Given the description of an element on the screen output the (x, y) to click on. 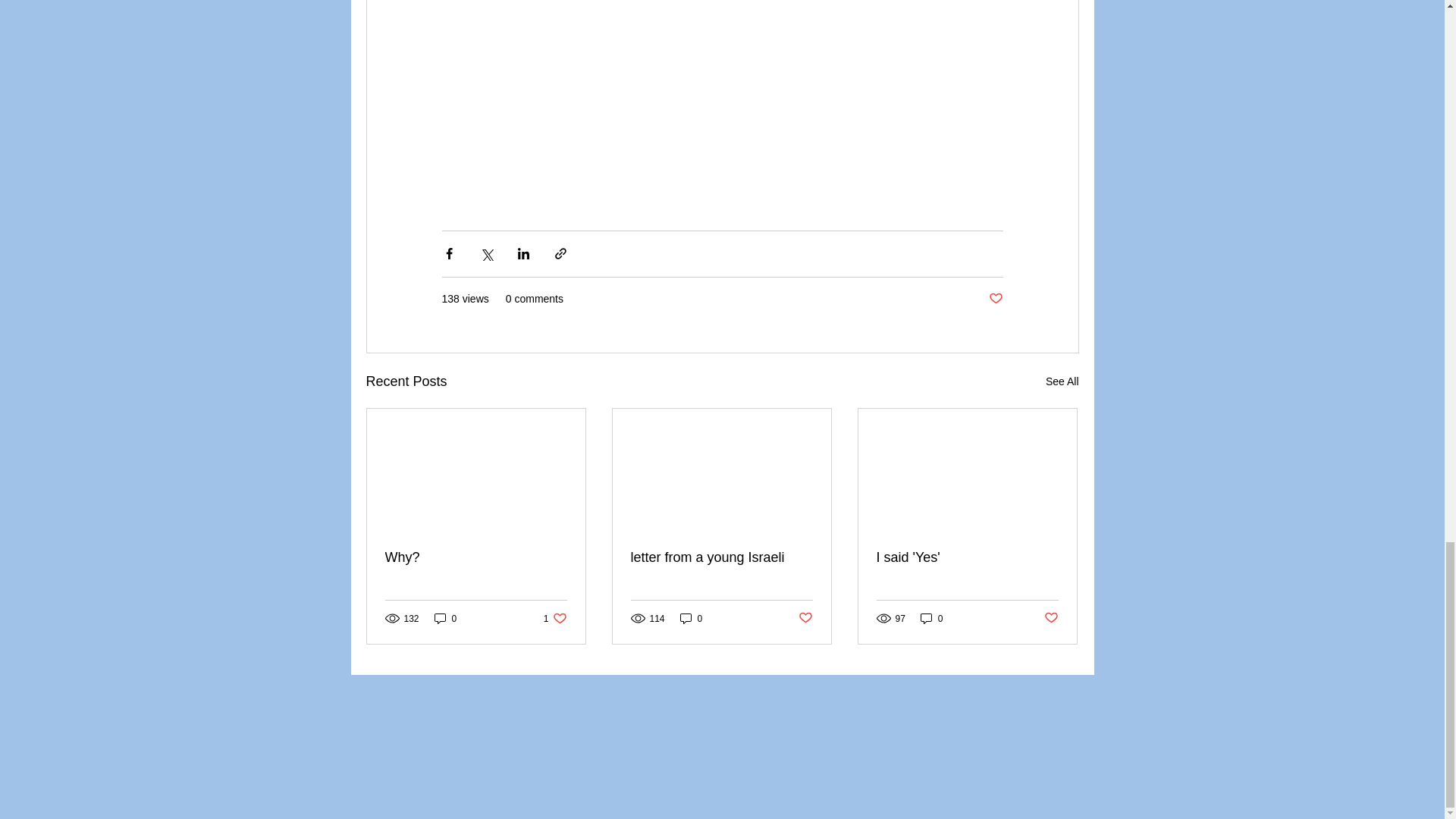
letter from a young Israeli (721, 557)
See All (555, 617)
0 (1061, 382)
Why? (445, 617)
Post not marked as liked (476, 557)
